Given the description of an element on the screen output the (x, y) to click on. 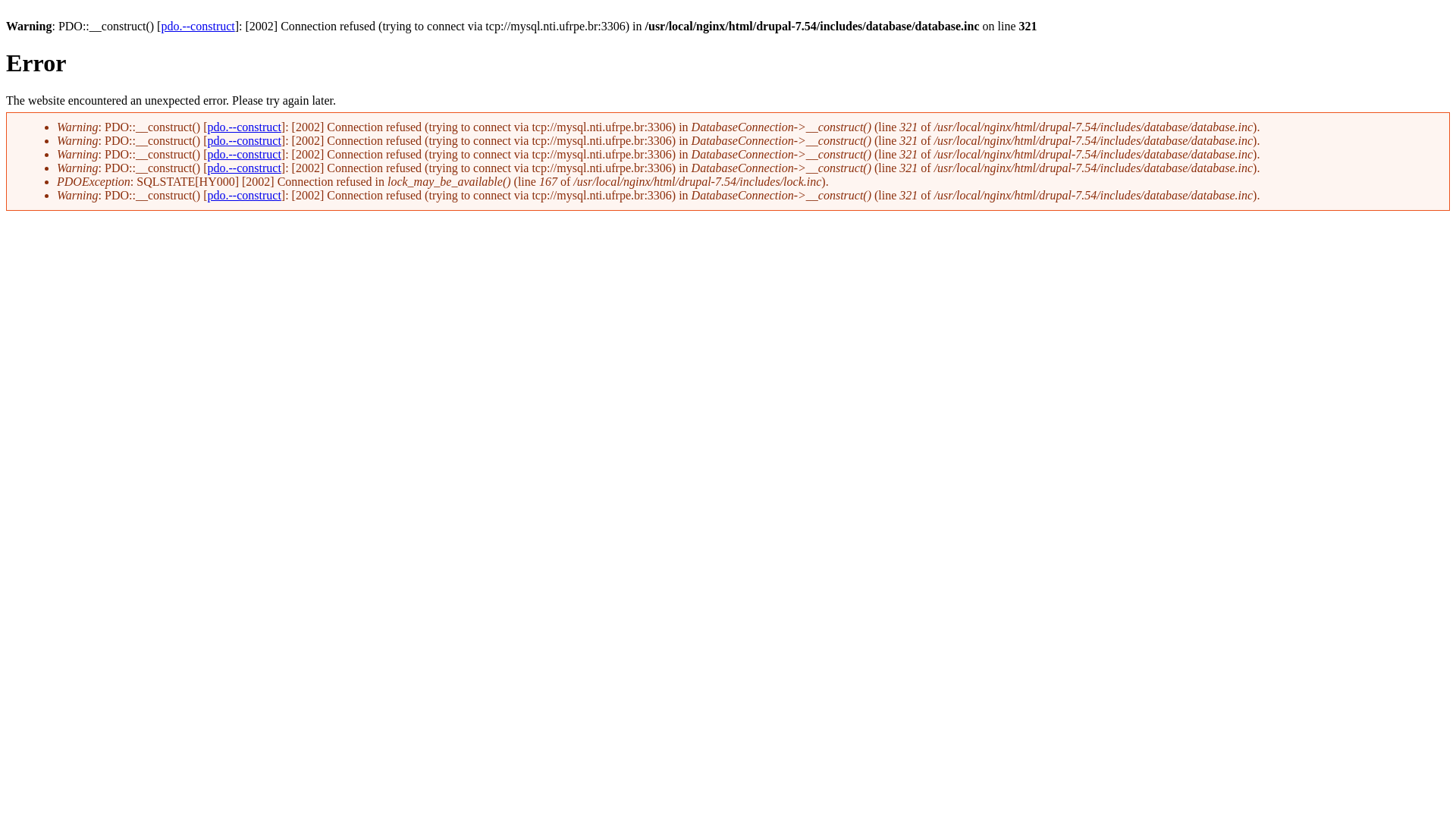
pdo.--construct Element type: text (244, 140)
pdo.--construct Element type: text (197, 25)
Skip to main content Element type: text (56, 33)
pdo.--construct Element type: text (244, 153)
pdo.--construct Element type: text (244, 126)
pdo.--construct Element type: text (244, 194)
pdo.--construct Element type: text (244, 167)
